Given the description of an element on the screen output the (x, y) to click on. 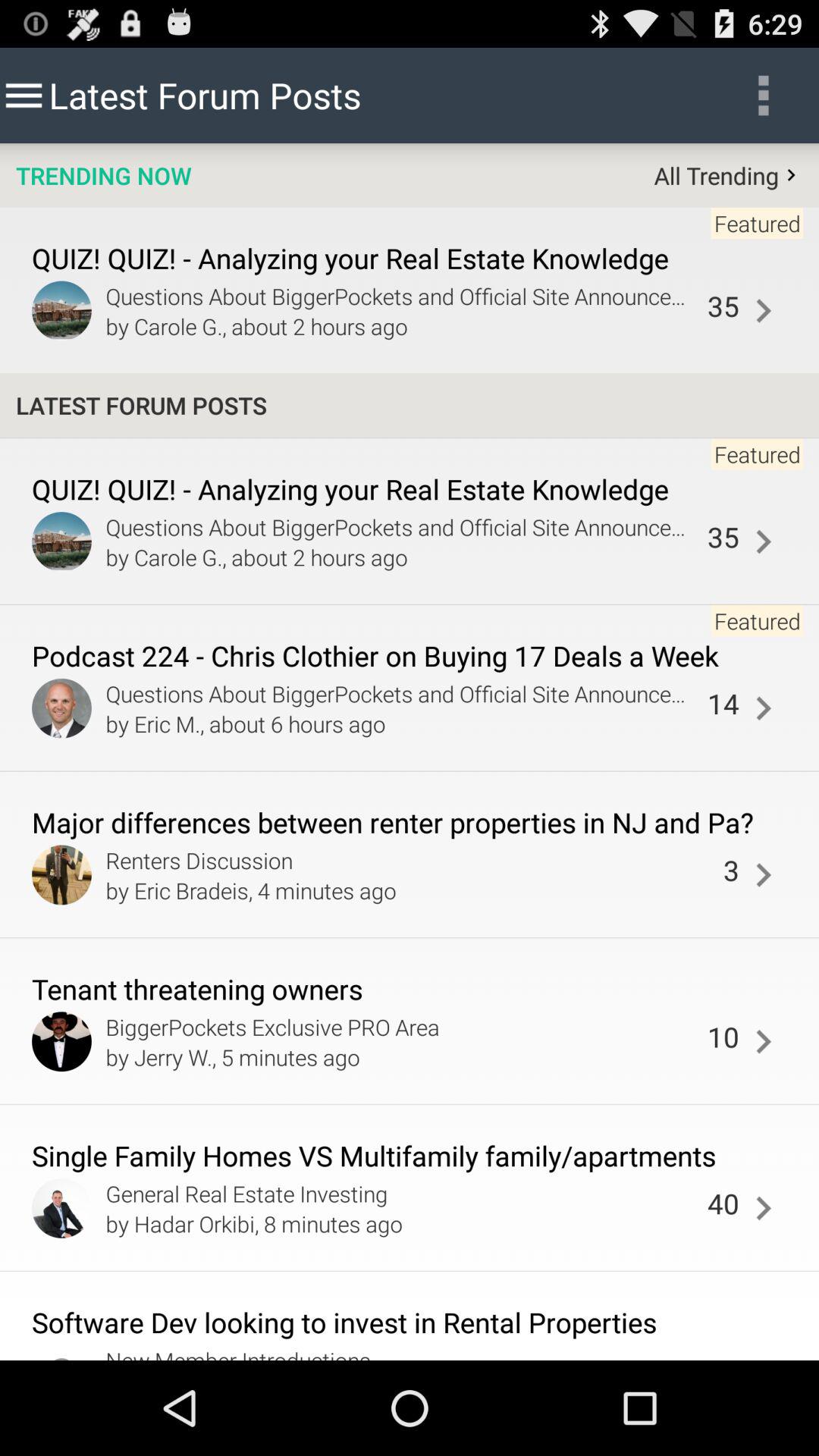
open the app next to the 10 (402, 1056)
